Given the description of an element on the screen output the (x, y) to click on. 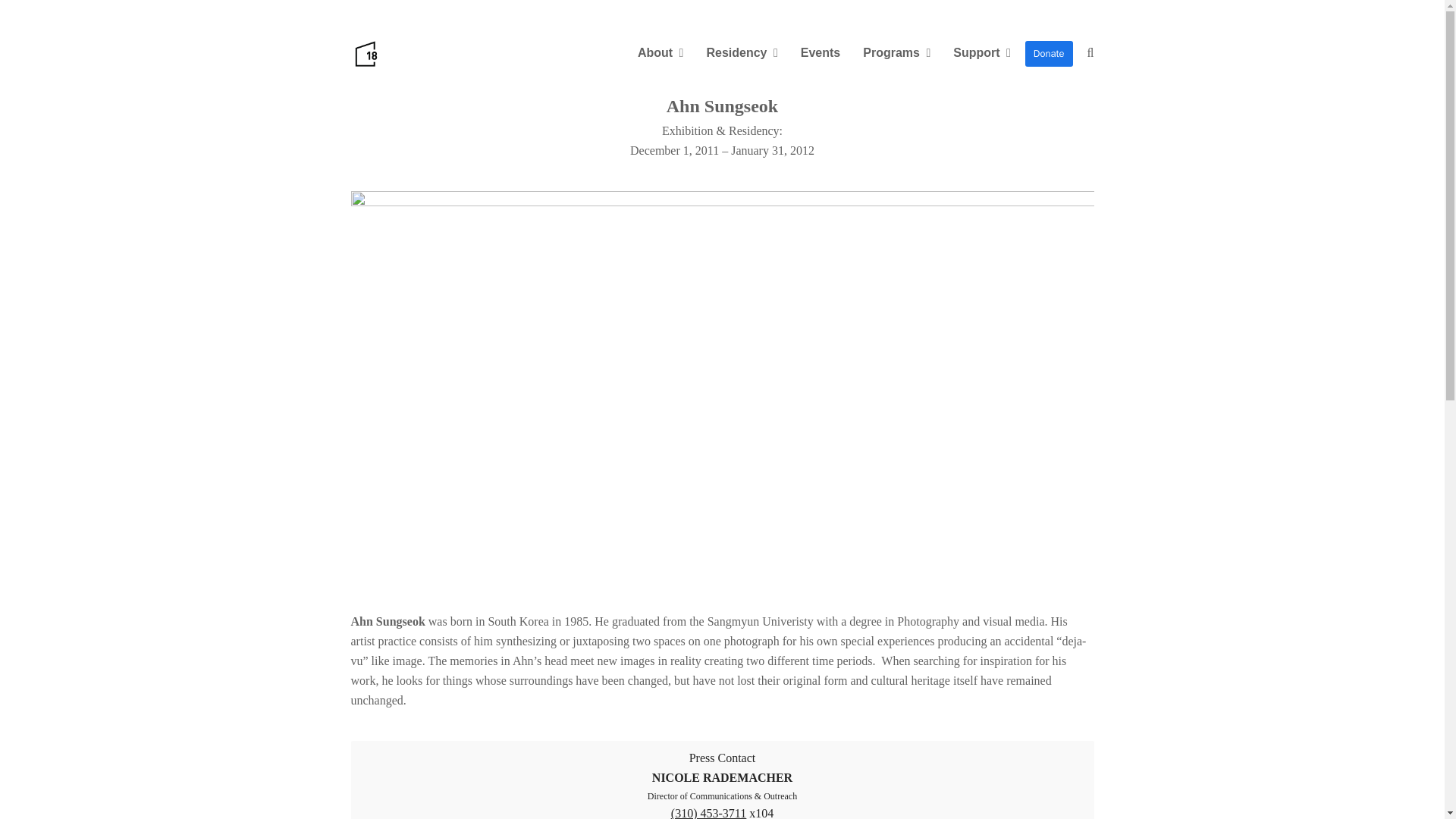
Events (820, 53)
Support (982, 53)
Programs (896, 53)
Residency (741, 53)
About (660, 53)
Donate (1048, 53)
